Given the description of an element on the screen output the (x, y) to click on. 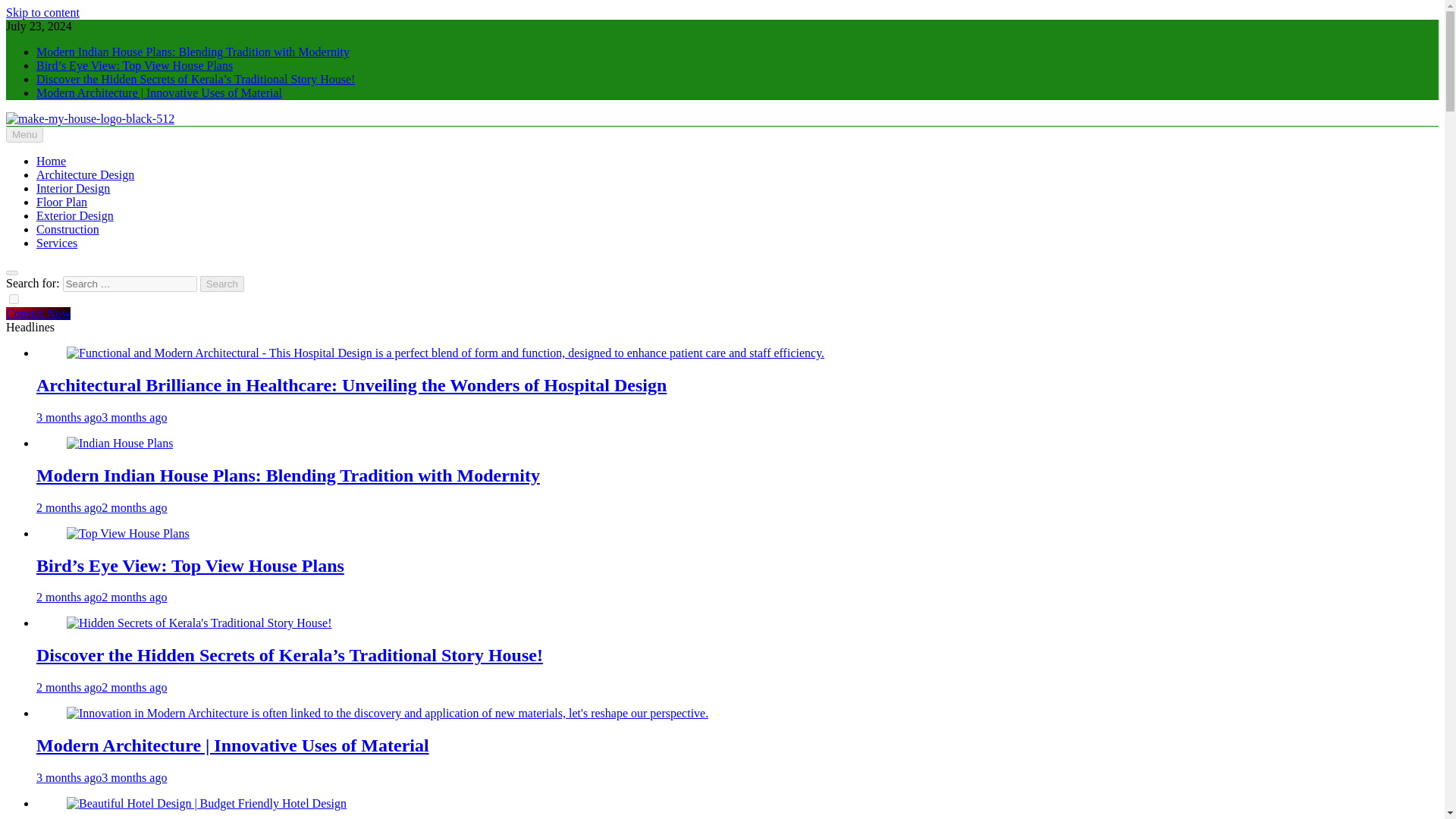
Architecture Design (84, 174)
Skip to content (42, 11)
Modern Indian House Plans: Blending Tradition with Modernity (119, 443)
3 months ago3 months ago (101, 777)
2 months ago2 months ago (101, 686)
Construction (67, 228)
Consult Now (37, 313)
2 months ago2 months ago (101, 596)
Modern Indian House Plans: Blending Tradition with Modernity (288, 475)
Home (50, 160)
Interior Design (73, 187)
Exterior Design (74, 215)
on (13, 298)
